Given the description of an element on the screen output the (x, y) to click on. 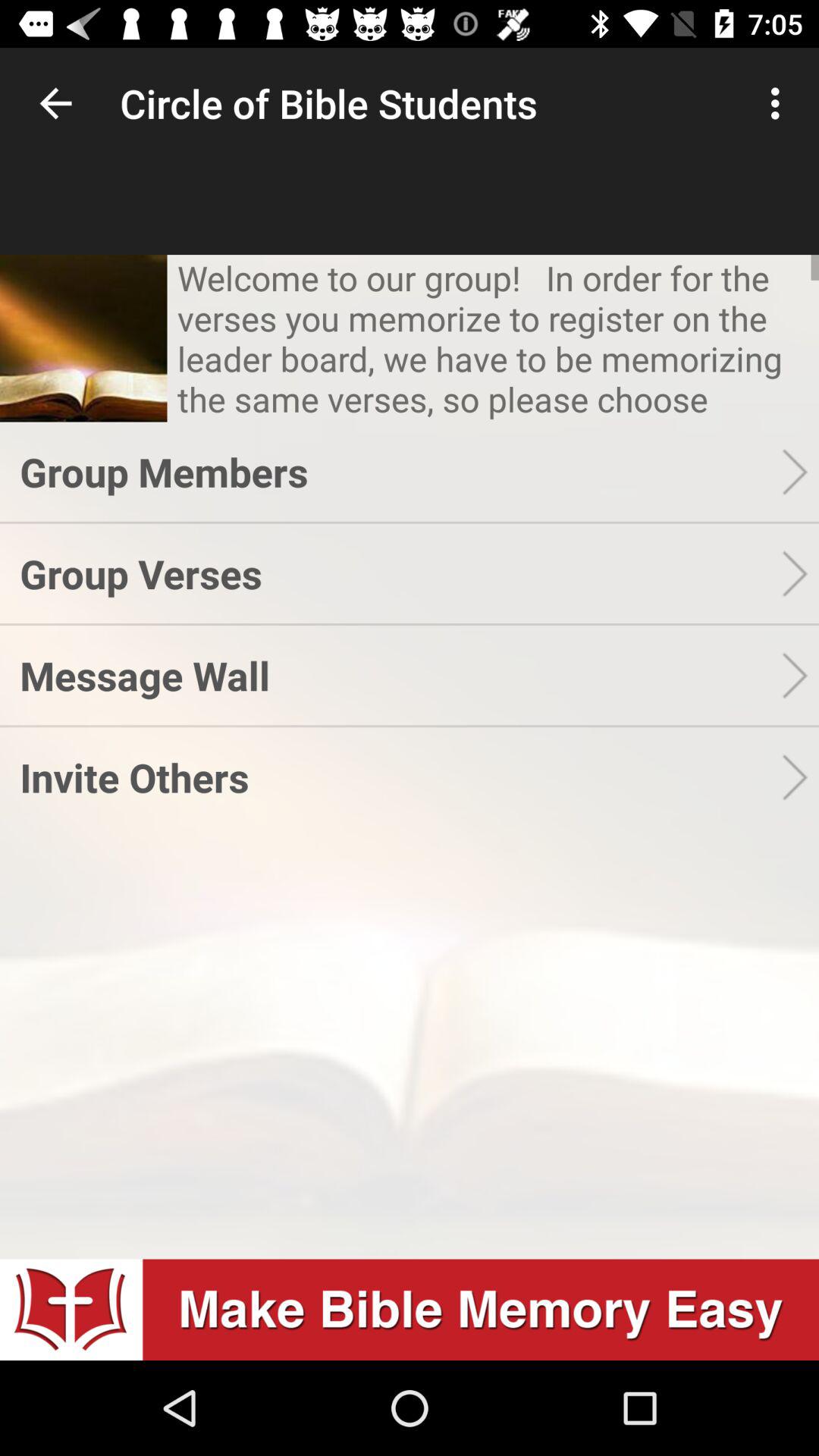
turn on group members app (399, 471)
